Given the description of an element on the screen output the (x, y) to click on. 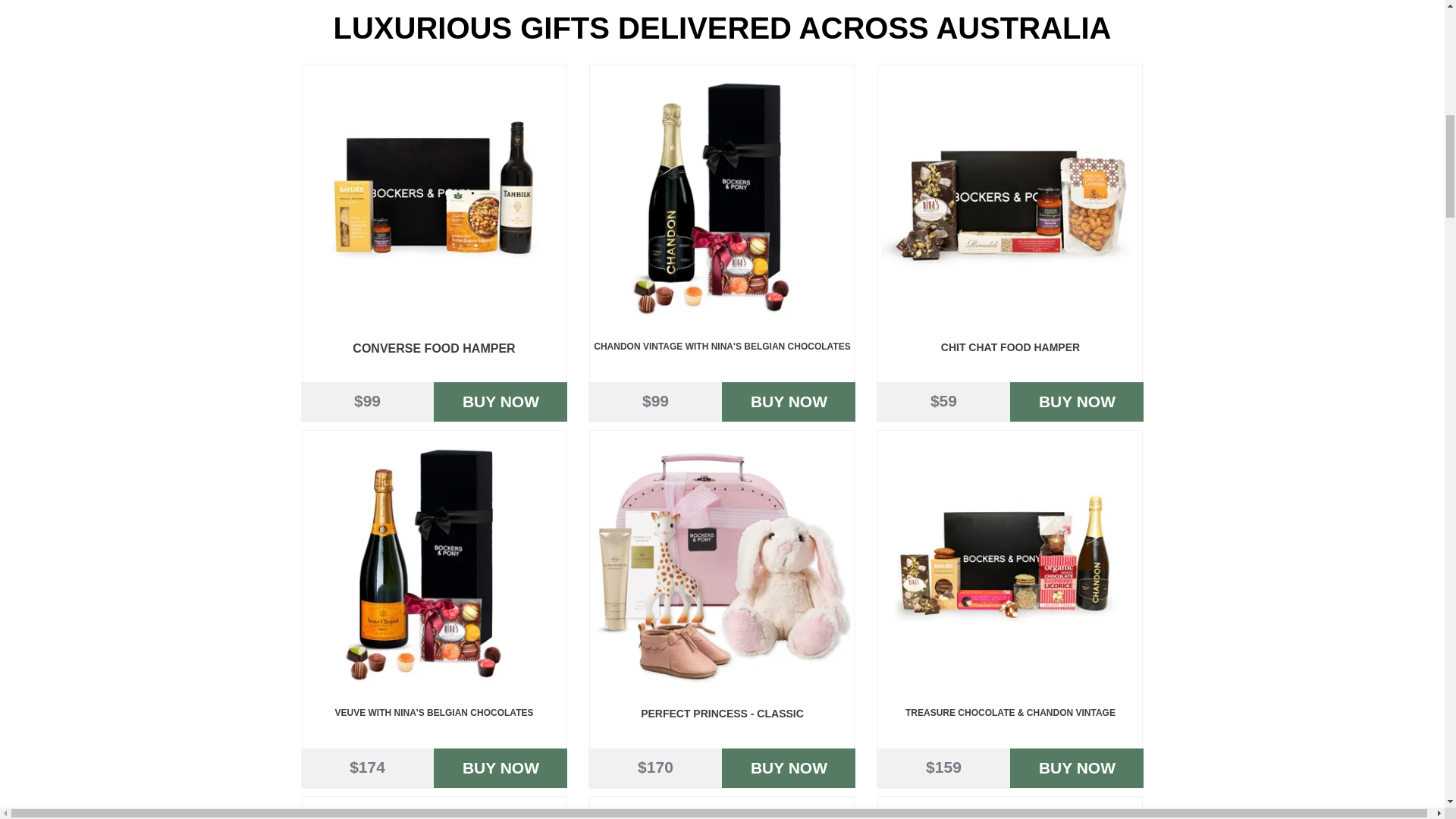
Perfect Princess - Classic (721, 562)
Chandon Vintage with Nina's Belgian Chocolates (721, 196)
Lovely Baby Boy - Classic (721, 809)
Small Talk Hamper (1009, 809)
Converse Food Hamper (433, 196)
Henschke Euphonium with Nina's Belgian Chocolates (433, 809)
Chit Chat Food Hamper (1009, 196)
Veuve with Nina's Belgian Chocolates (433, 562)
